Given the description of an element on the screen output the (x, y) to click on. 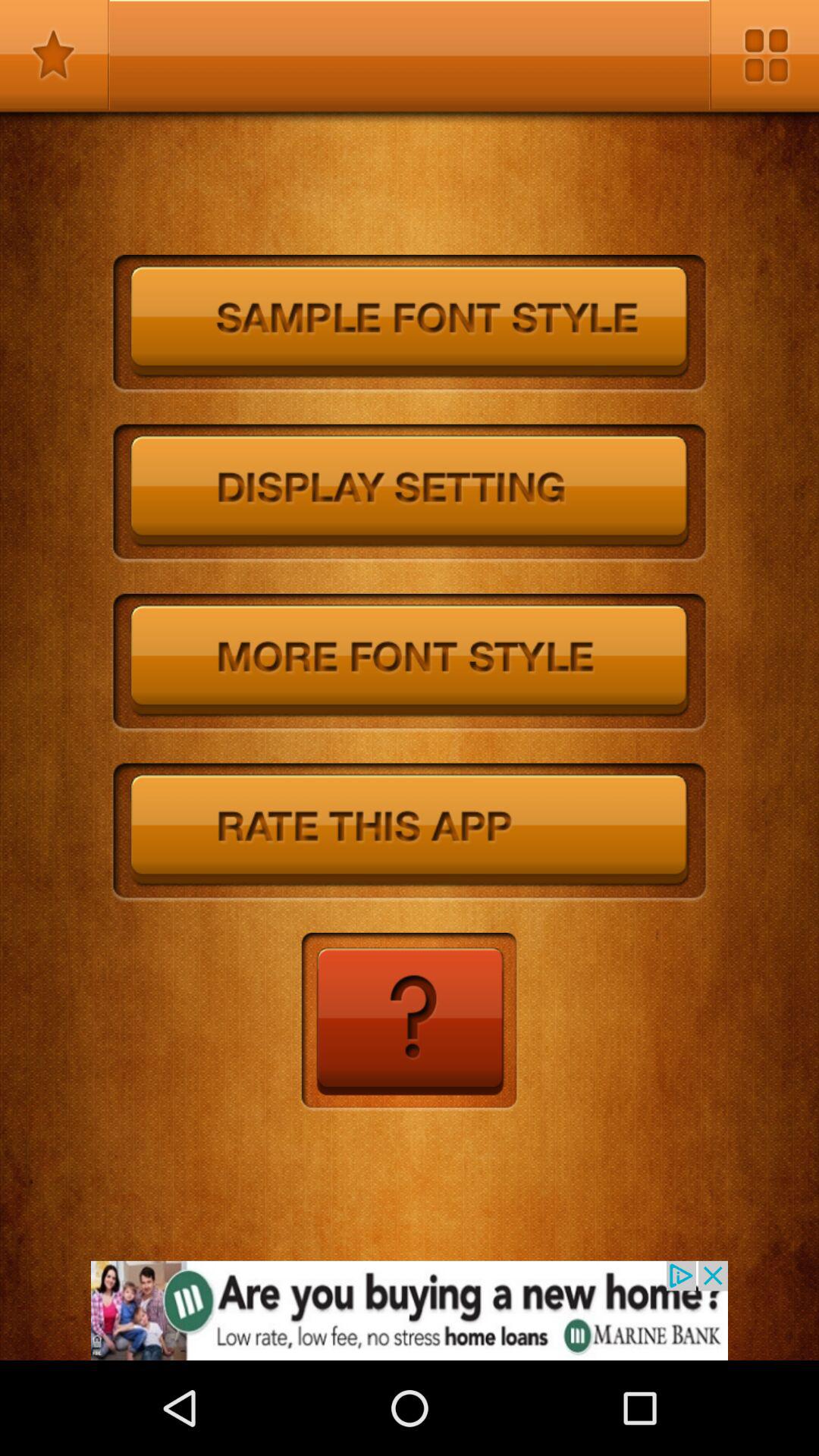
view sample fonts (409, 324)
